Given the description of an element on the screen output the (x, y) to click on. 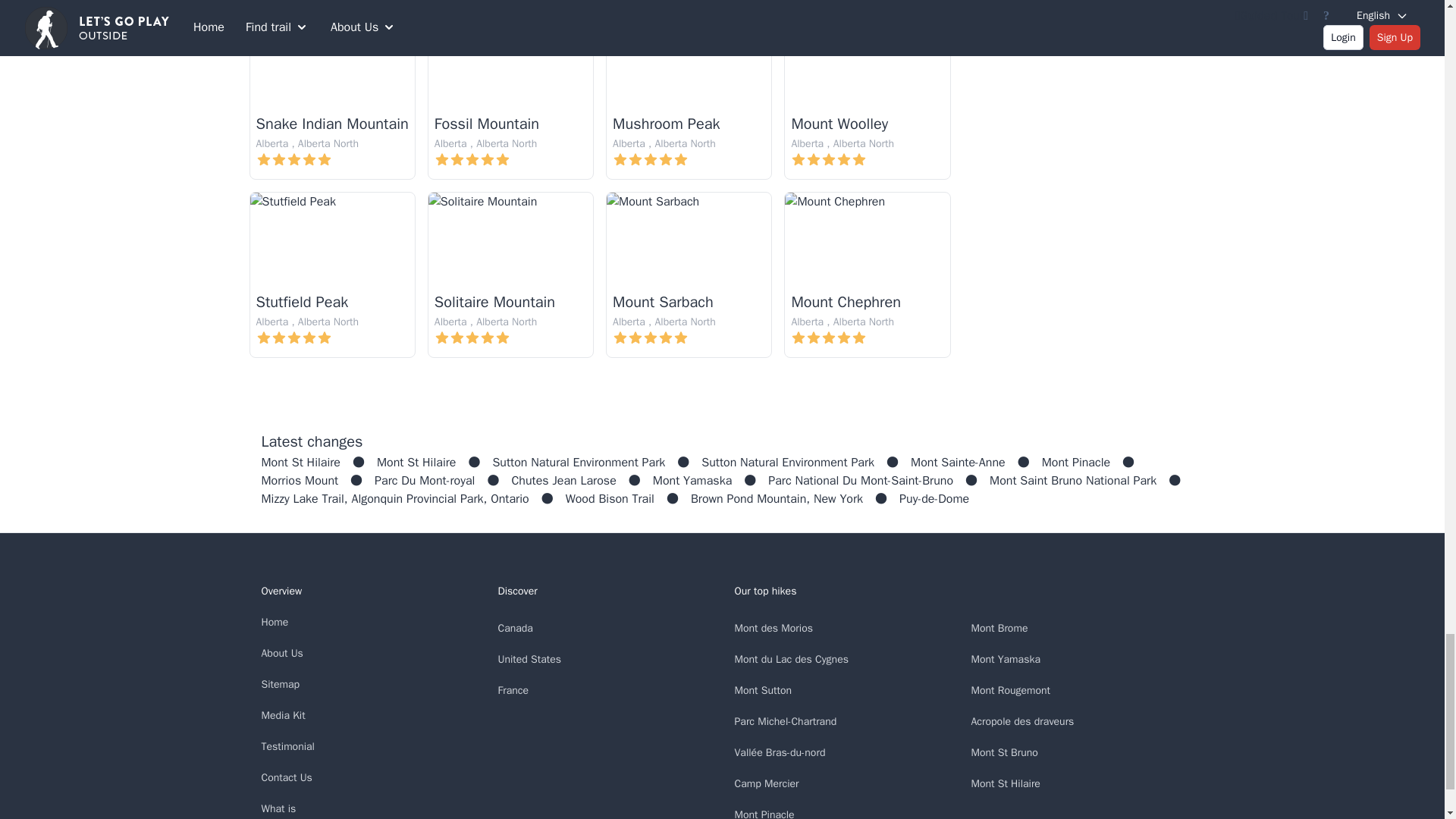
Mount Woolley (839, 123)
Fossil Mountain (485, 123)
Mushroom Peak (665, 123)
Mount Chephren (845, 302)
Mount Sarbach (662, 302)
Stutfield Peak (302, 302)
Snake Indian Mountain (332, 123)
Solitaire Mountain (493, 302)
